Given the description of an element on the screen output the (x, y) to click on. 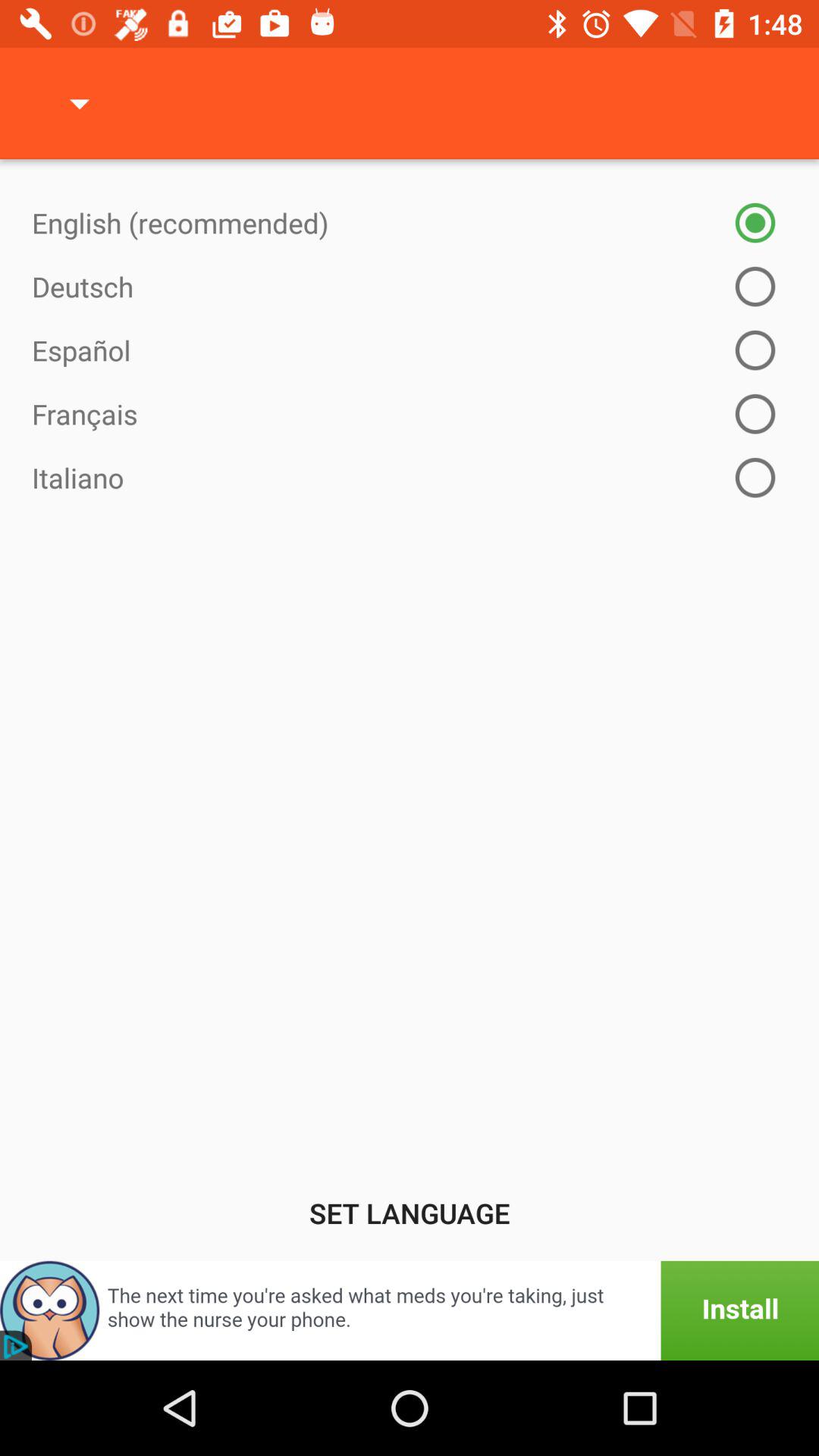
install the app (409, 1310)
